Given the description of an element on the screen output the (x, y) to click on. 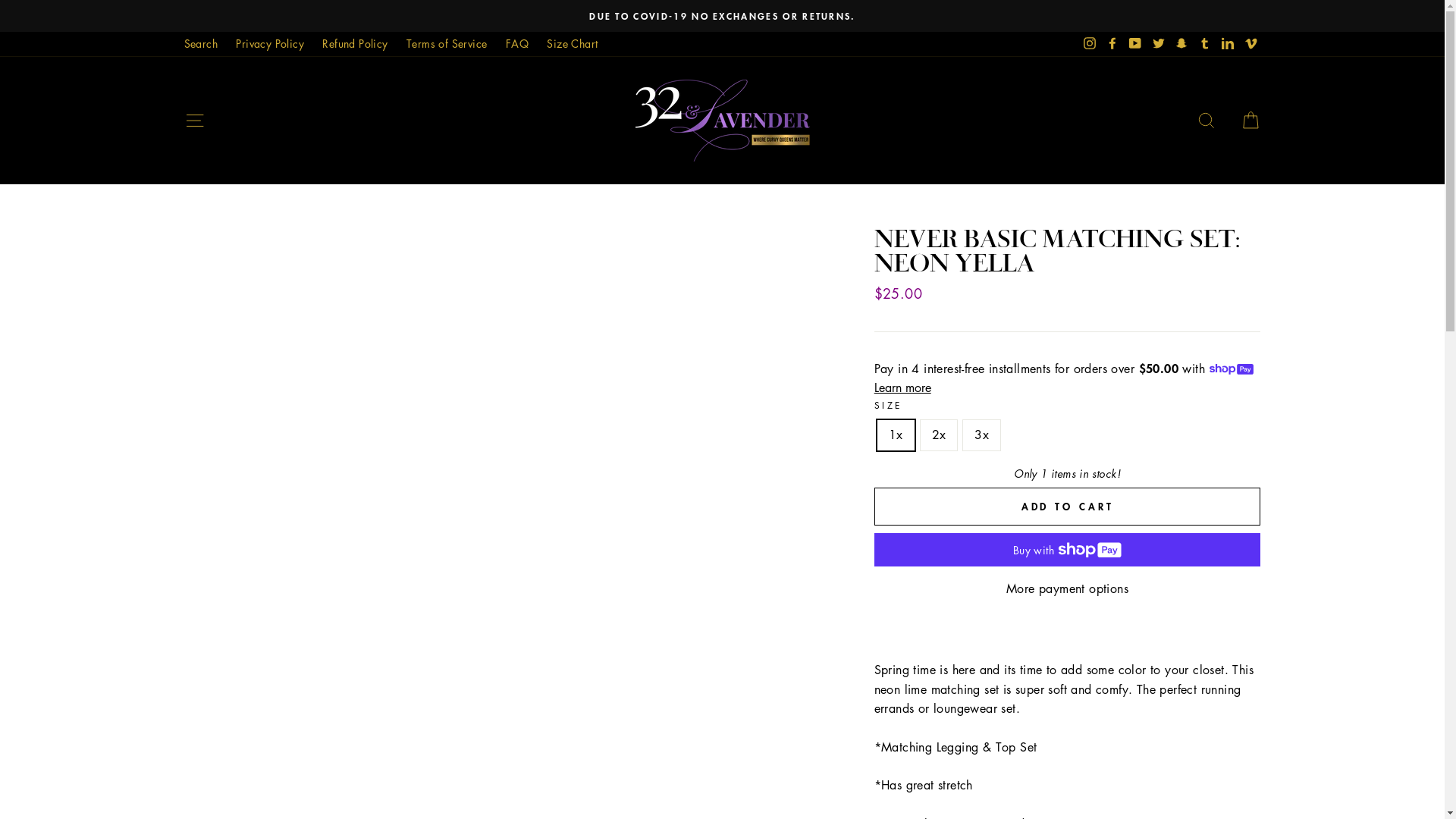
CART Element type: text (1249, 119)
Skip to content Element type: text (0, 0)
Search Element type: text (199, 43)
Snapchat Element type: text (1181, 43)
YouTube Element type: text (1135, 43)
Instagram Element type: text (1089, 43)
More payment options Element type: text (1067, 588)
Tumblr Element type: text (1204, 43)
Refund Policy Element type: text (354, 43)
SITE NAVIGATION Element type: text (193, 119)
LinkedIn Element type: text (1227, 43)
SEARCH Element type: text (1206, 119)
FAQ Element type: text (517, 43)
Privacy Policy Element type: text (269, 43)
ADD TO CART Element type: text (1067, 506)
Vimeo Element type: text (1250, 43)
Terms of Service Element type: text (446, 43)
Facebook Element type: text (1112, 43)
Size Chart Element type: text (572, 43)
Twitter Element type: text (1158, 43)
